Given the description of an element on the screen output the (x, y) to click on. 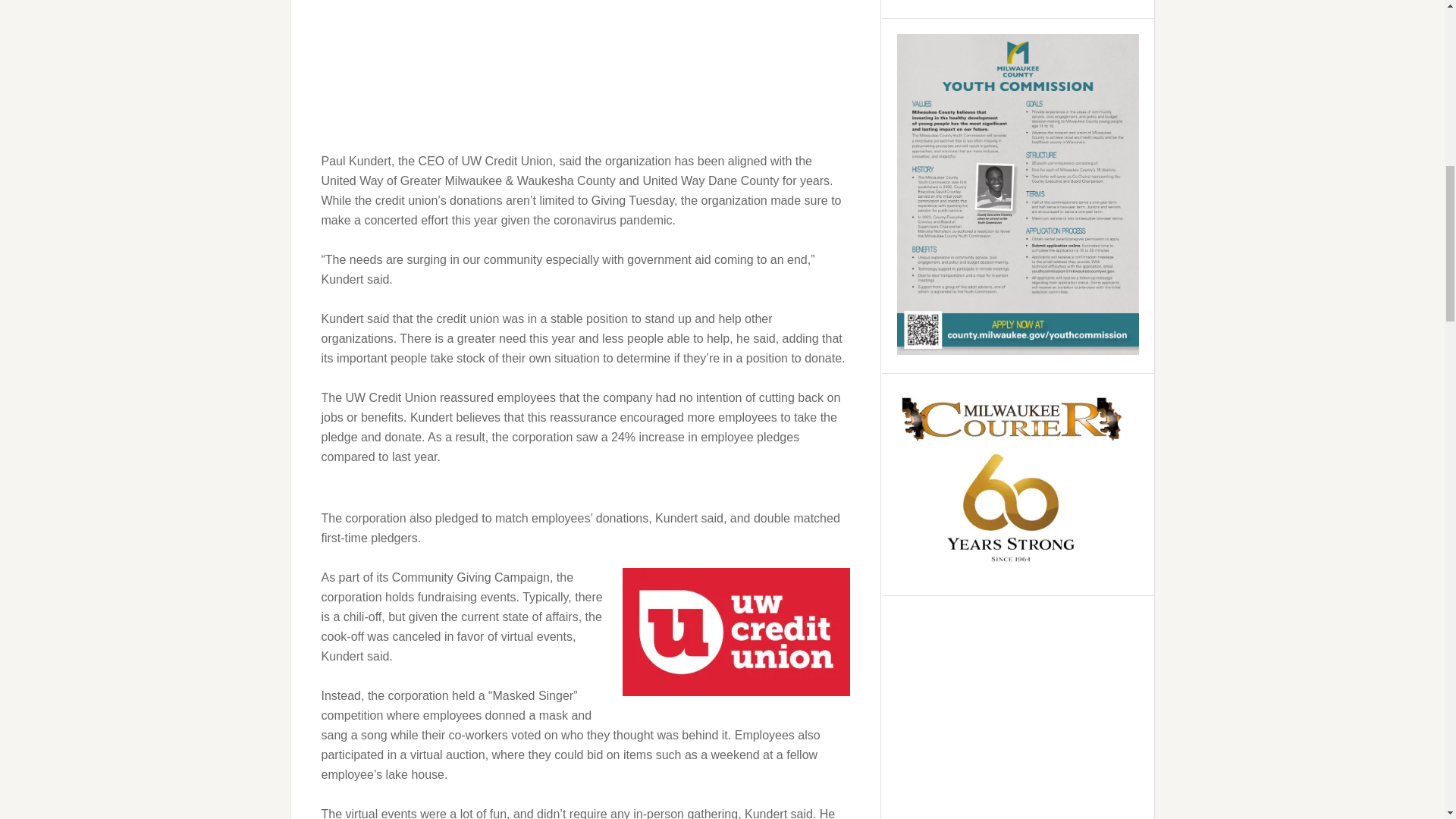
Advertisement (584, 71)
